Given the description of an element on the screen output the (x, y) to click on. 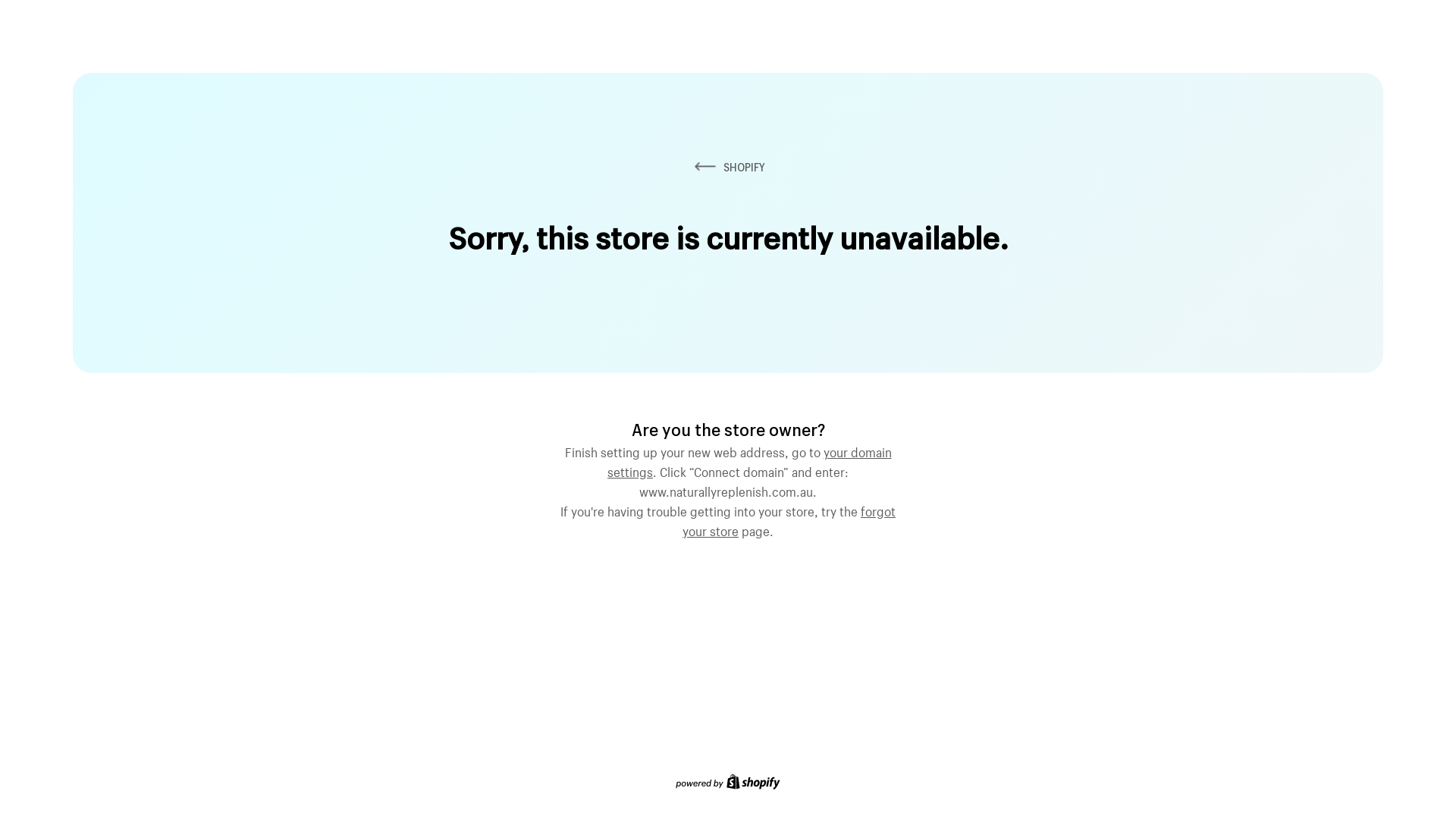
forgot your store Element type: text (788, 519)
your domain settings Element type: text (749, 460)
SHOPIFY Element type: text (727, 167)
